Given the description of an element on the screen output the (x, y) to click on. 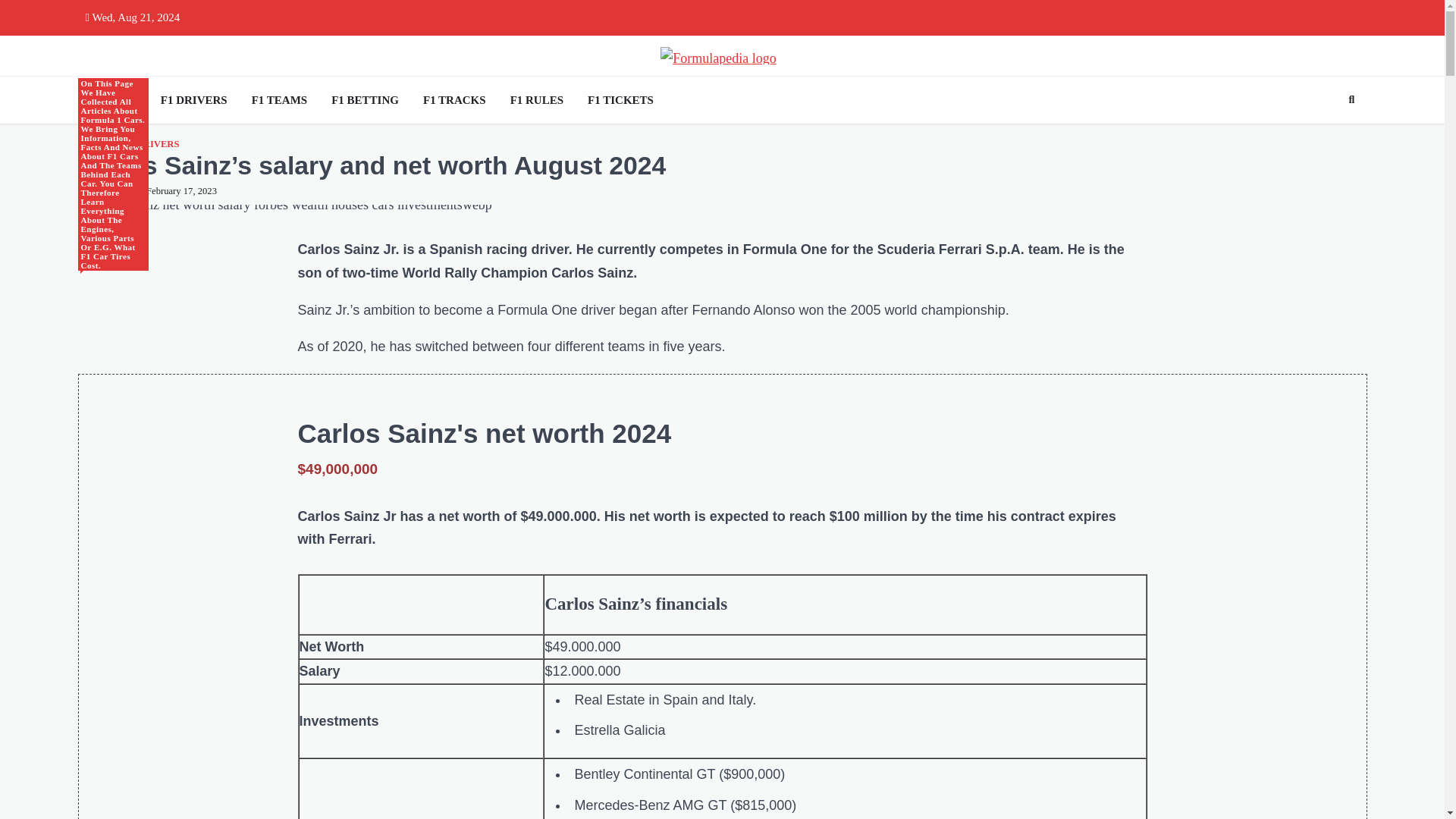
February 17, 2023 (177, 190)
Lisette Holm (106, 190)
F1 TEAMS (279, 100)
F1 DRIVERS (193, 100)
F1 TRACKS (454, 100)
F1 TICKETS (619, 100)
FORMULA 1 DRIVERS (128, 143)
F1 RULES (536, 100)
F1 BETTING (364, 100)
